Given the description of an element on the screen output the (x, y) to click on. 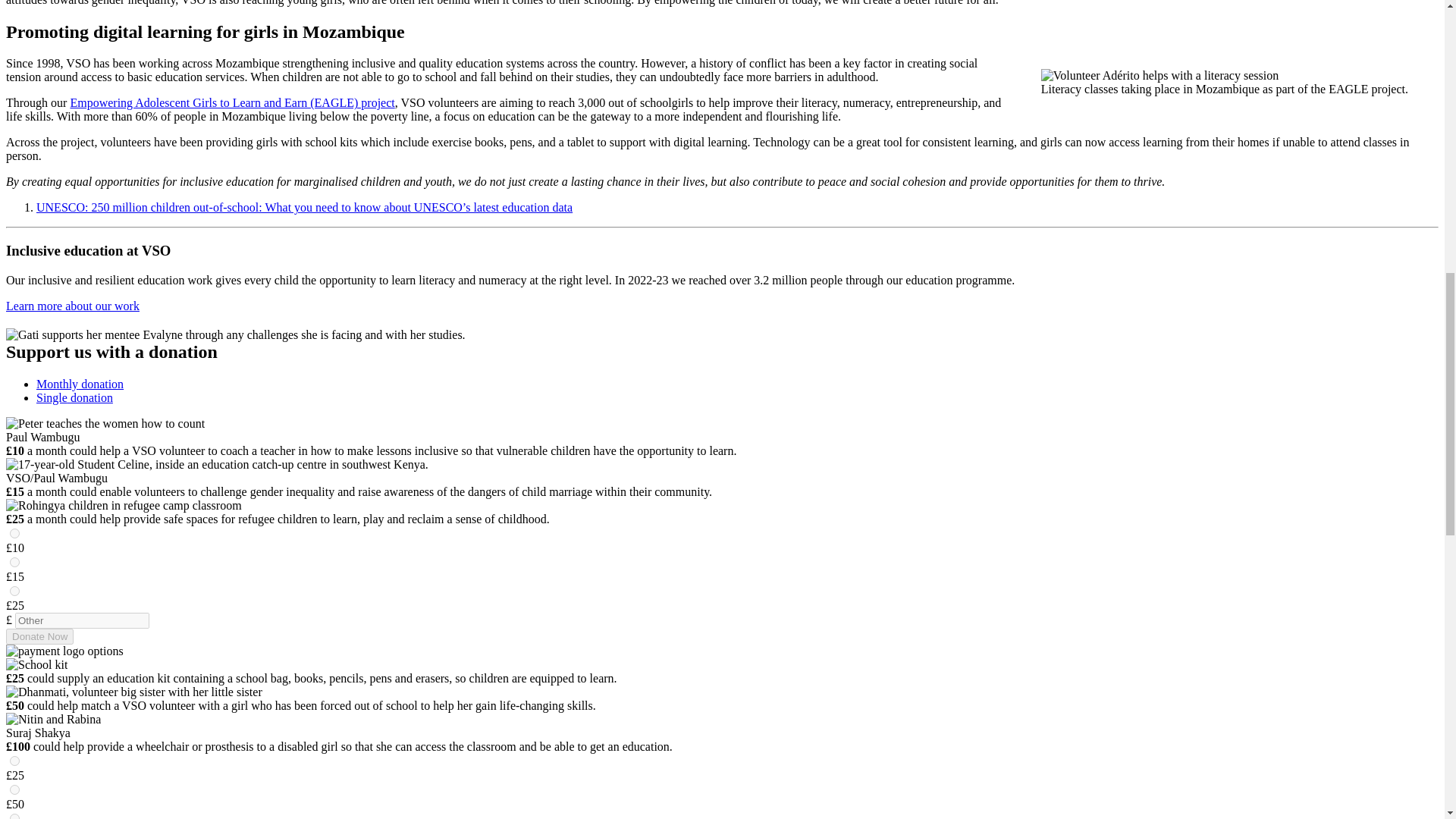
100 (15, 816)
10 (15, 533)
15 (15, 562)
Donate Now (39, 636)
25 (15, 591)
50 (15, 789)
25 (15, 760)
